Given the description of an element on the screen output the (x, y) to click on. 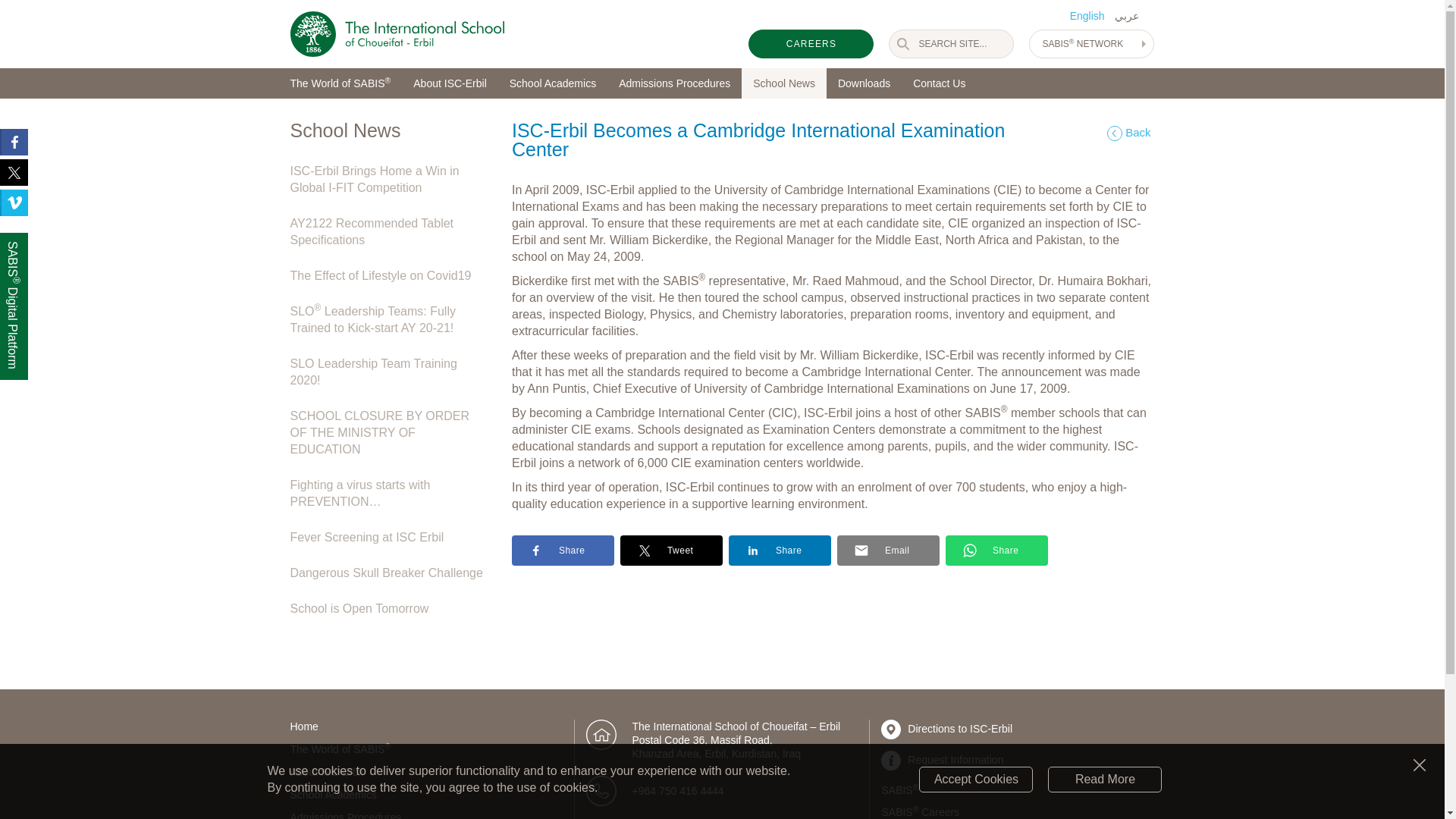
About ISC-Erbil (449, 82)
The International School of Choueifat - Erbil (396, 33)
English (1089, 15)
ISC-Erbil on Facebook (13, 141)
CAREERS (810, 44)
